Given the description of an element on the screen output the (x, y) to click on. 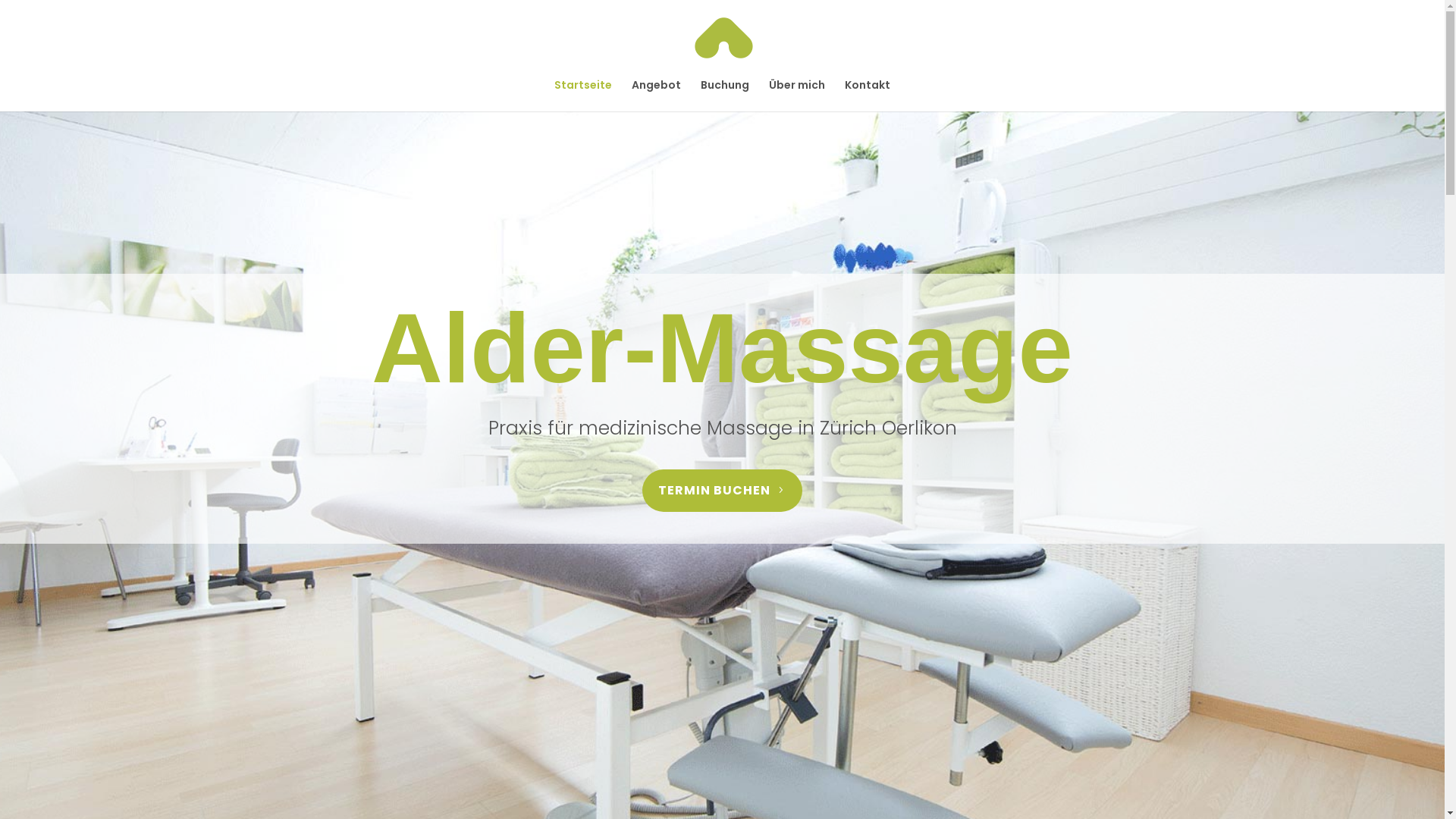
Buchung Element type: text (724, 95)
Angebot Element type: text (655, 95)
Startseite Element type: text (582, 95)
Kontakt Element type: text (867, 95)
TERMIN BUCHEN Element type: text (722, 489)
